Given the description of an element on the screen output the (x, y) to click on. 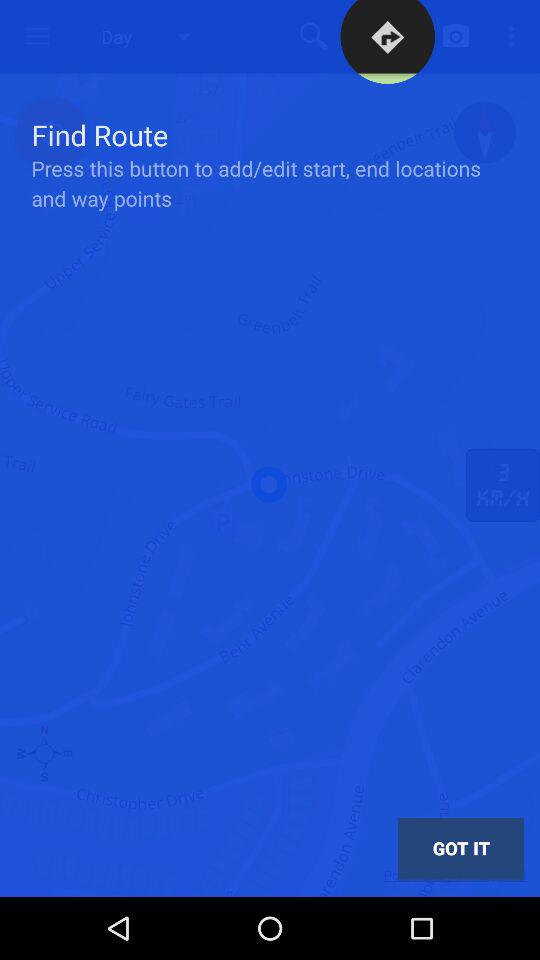
select the text at the bottom right corner (460, 849)
click on the three dots at top right corner (514, 36)
click on the search bar at the top of the page (314, 36)
click on the camera icon at the top of the page (456, 36)
